Given the description of an element on the screen output the (x, y) to click on. 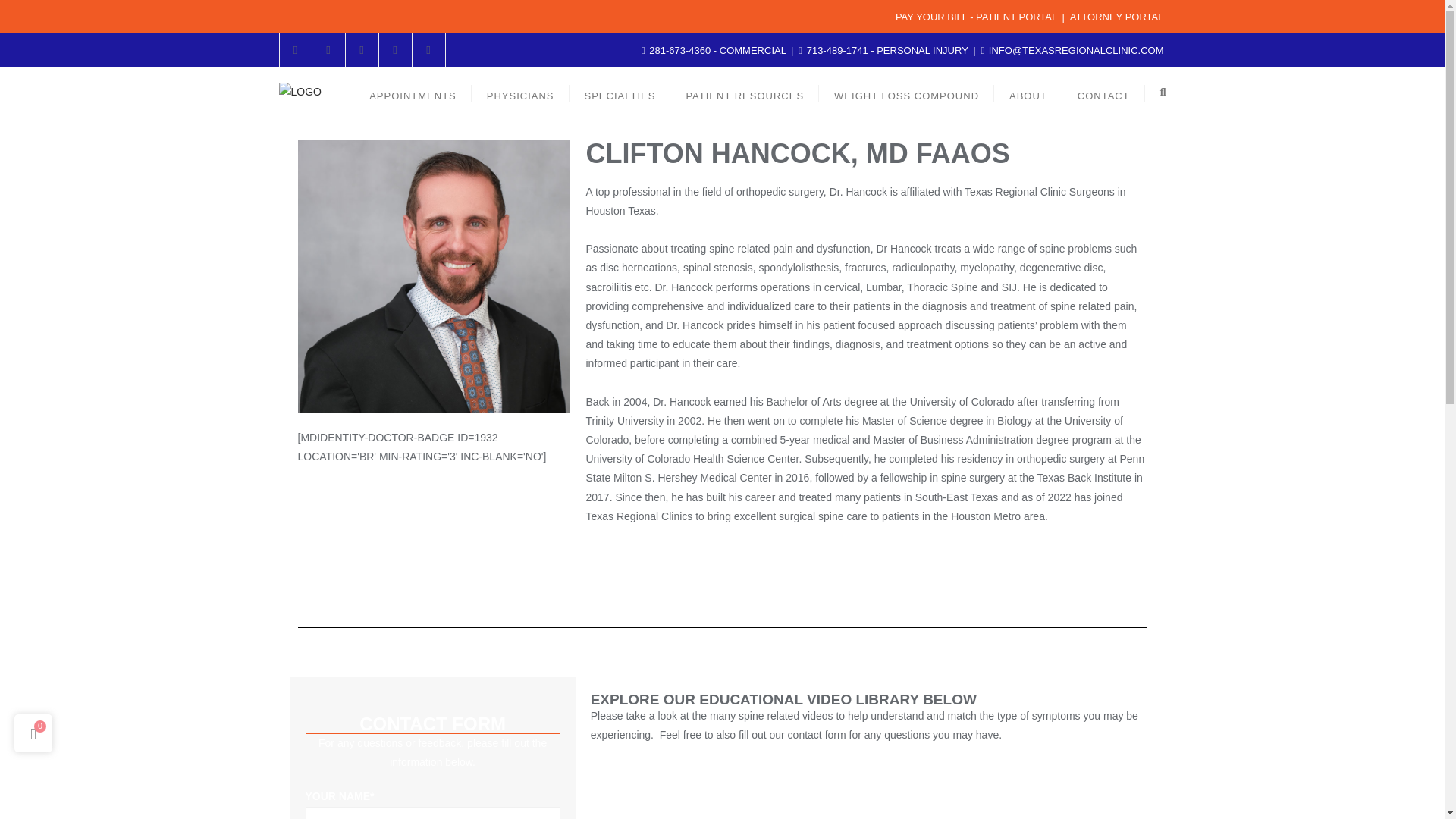
PHYSICIANS (520, 92)
PAY YOUR BILL - PATIENT PORTAL (976, 16)
SPECIALTIES (620, 92)
713-489-1741 - PERSONAL INJURY (884, 50)
281-673-4360 - COMMERCIAL (715, 50)
PATIENT RESOURCES (743, 92)
ATTORNEY PORTAL (1116, 16)
APPOINTMENTS (412, 92)
